Given the description of an element on the screen output the (x, y) to click on. 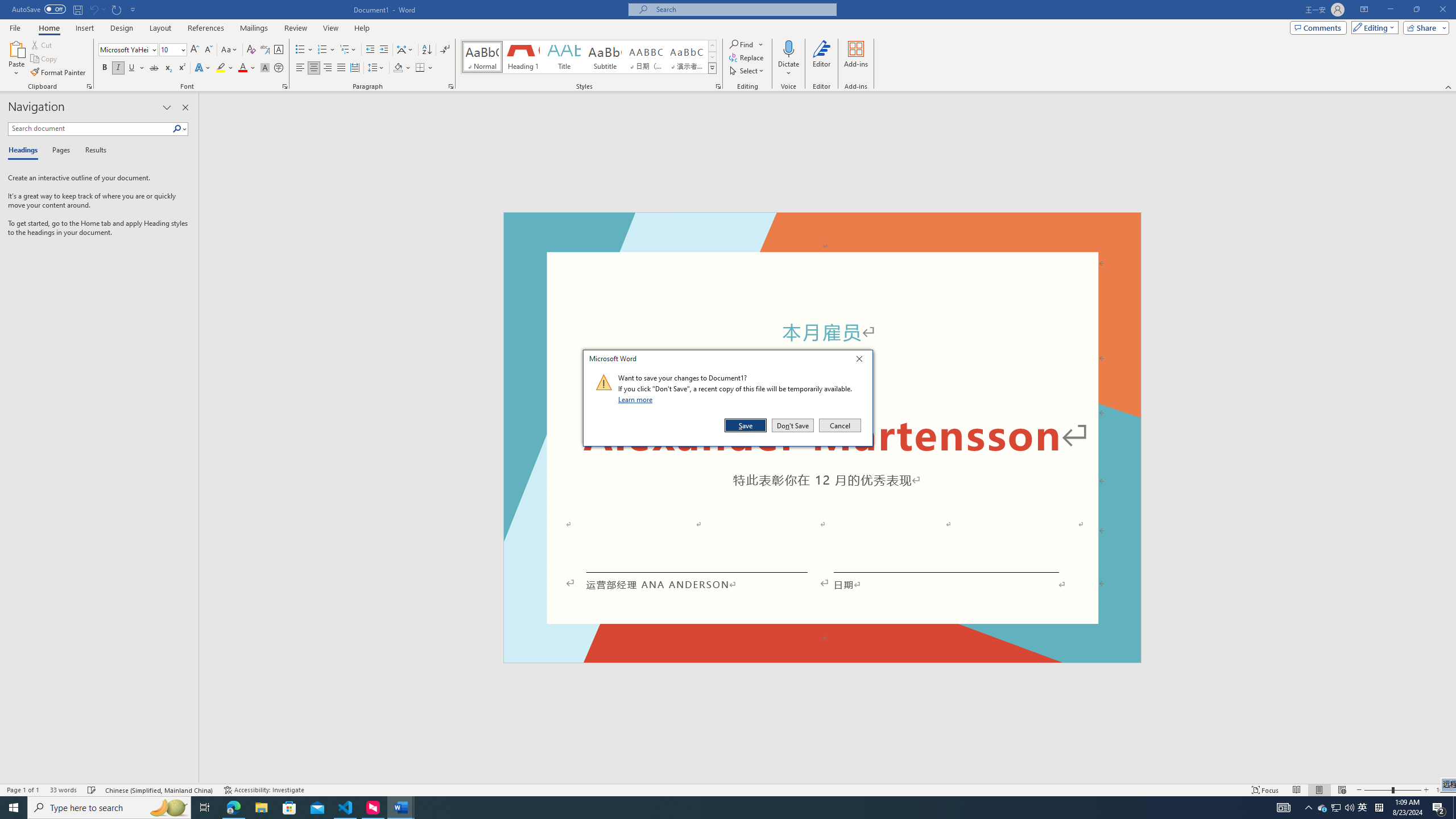
Task Pane Options (167, 107)
Subtitle (605, 56)
Font Color Red (241, 67)
Multilevel List (347, 49)
File Tab (15, 27)
Insert (83, 28)
Find (746, 44)
Center (313, 67)
Borders (424, 67)
Header -Section 1- (822, 225)
Results (91, 150)
Can't Undo (96, 9)
Character Shading (264, 67)
Zoom 100% (1443, 790)
